Given the description of an element on the screen output the (x, y) to click on. 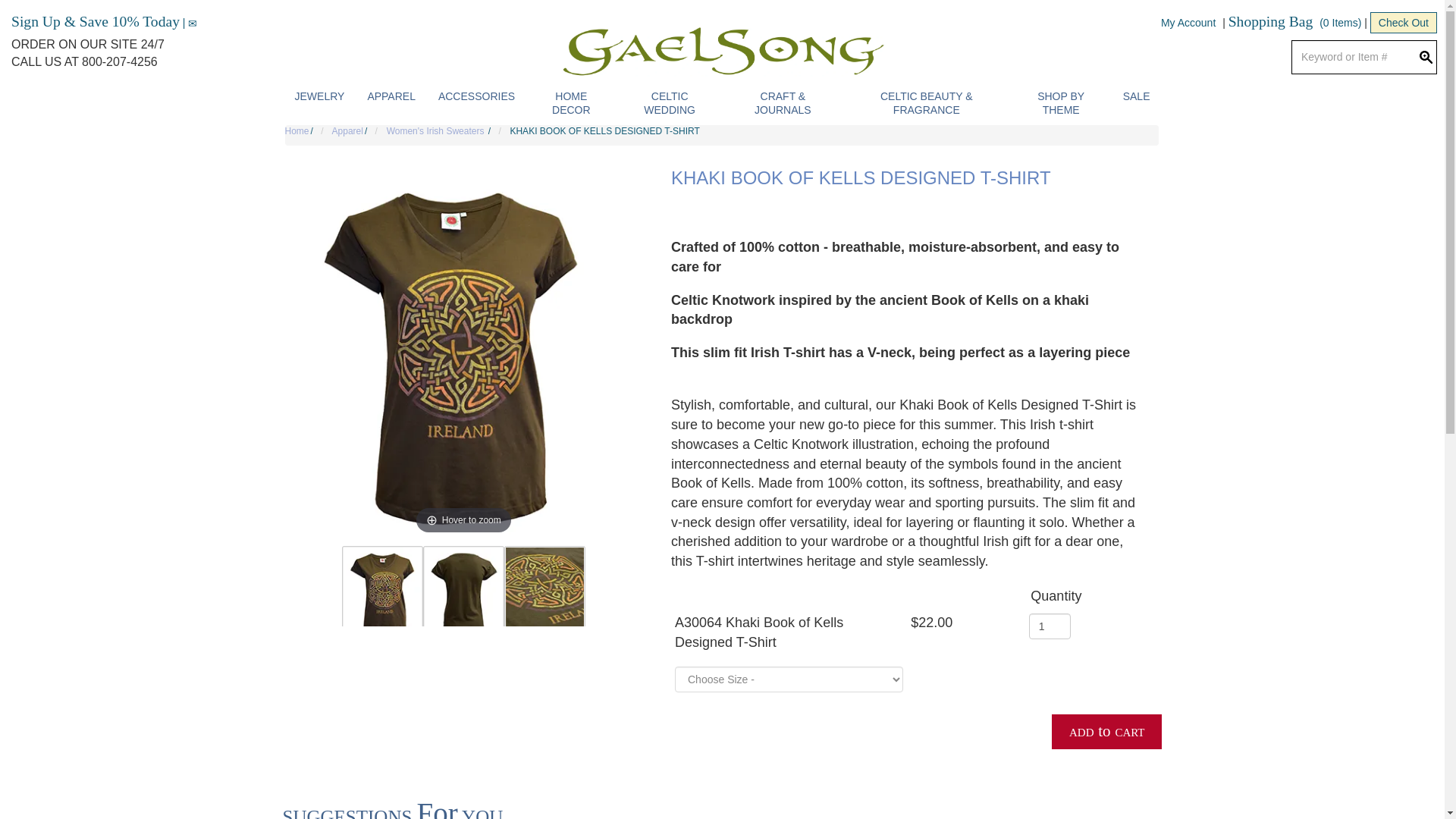
1 (1049, 626)
